Given the description of an element on the screen output the (x, y) to click on. 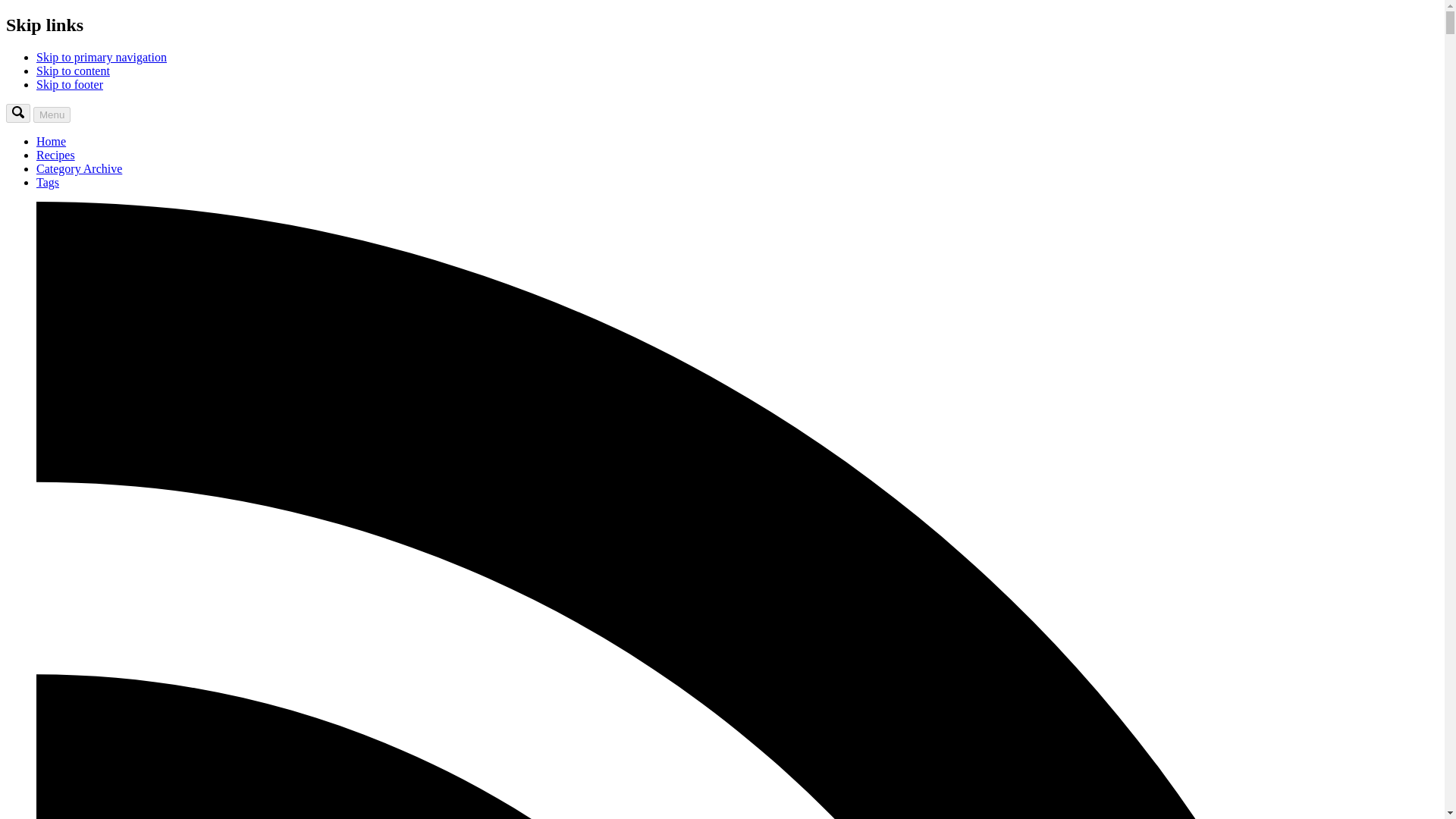
Recipes (55, 154)
Search (17, 111)
Menu (51, 114)
Home (50, 141)
Skip to primary navigation (101, 56)
Search (17, 113)
Category Archive (79, 168)
Tags (47, 182)
Skip to content (73, 70)
Skip to footer (69, 83)
